Given the description of an element on the screen output the (x, y) to click on. 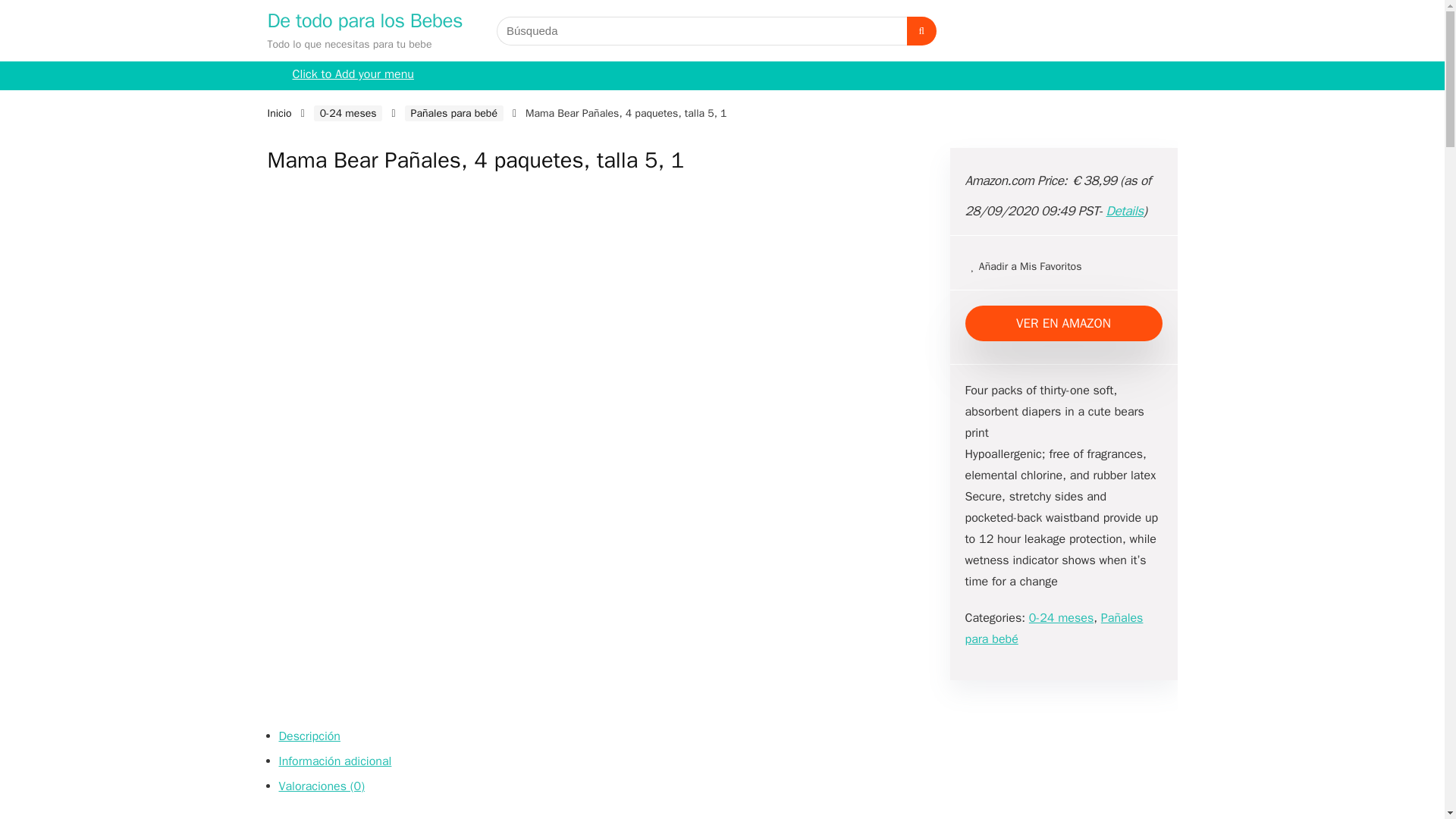
Details (1124, 210)
0-24 meses (348, 113)
VER EN AMAZON (1062, 323)
Inicio (278, 113)
Click to Add your menu (352, 75)
0-24 meses (1061, 617)
